Given the description of an element on the screen output the (x, y) to click on. 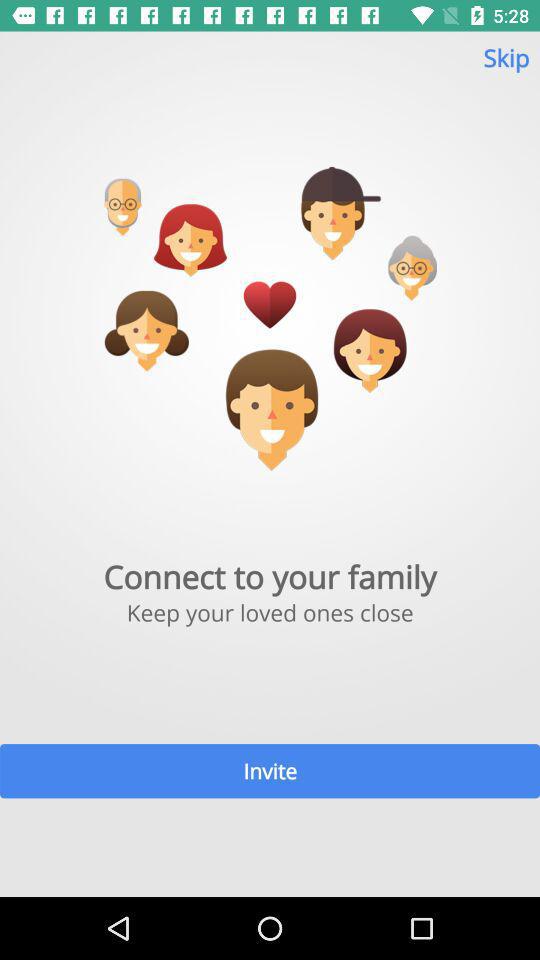
click the skip item (506, 66)
